Given the description of an element on the screen output the (x, y) to click on. 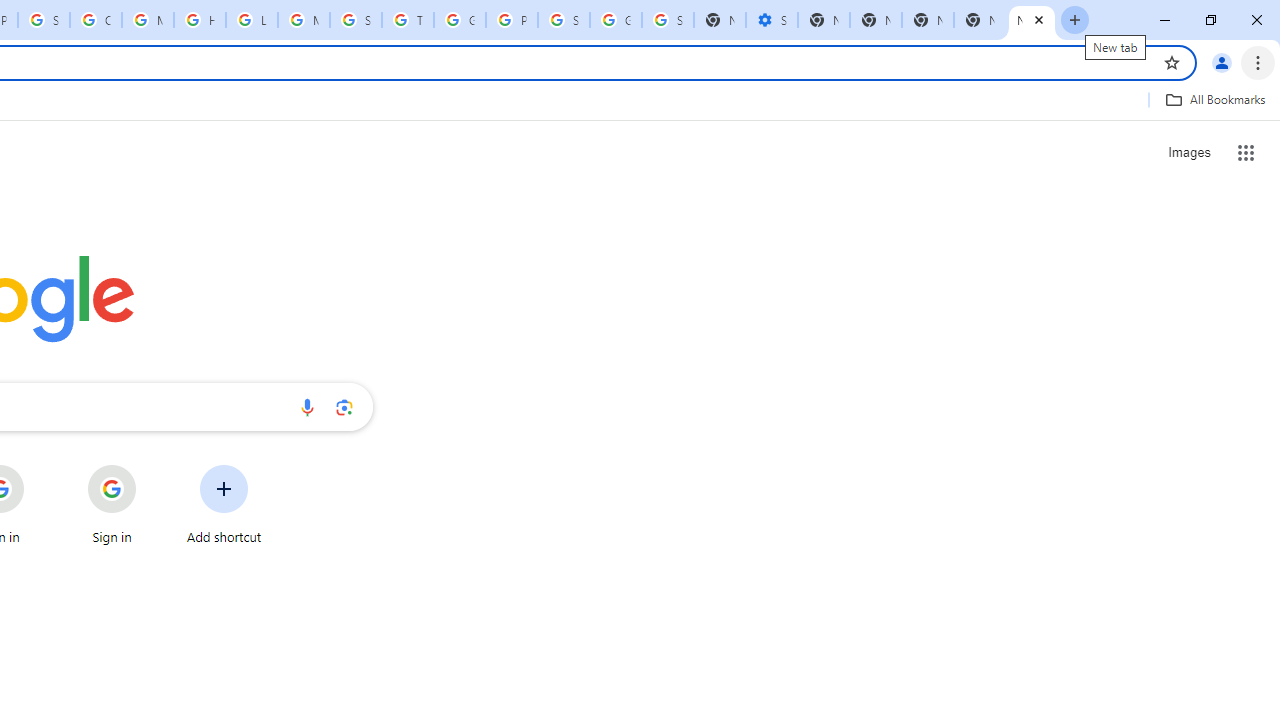
Trusted Information and Content - Google Safety Center (407, 20)
Add shortcut (223, 504)
New Tab (1032, 20)
Google Ads - Sign in (459, 20)
Search our Doodle Library Collection - Google Doodles (355, 20)
More actions for Sign in shortcut (152, 466)
